Given the description of an element on the screen output the (x, y) to click on. 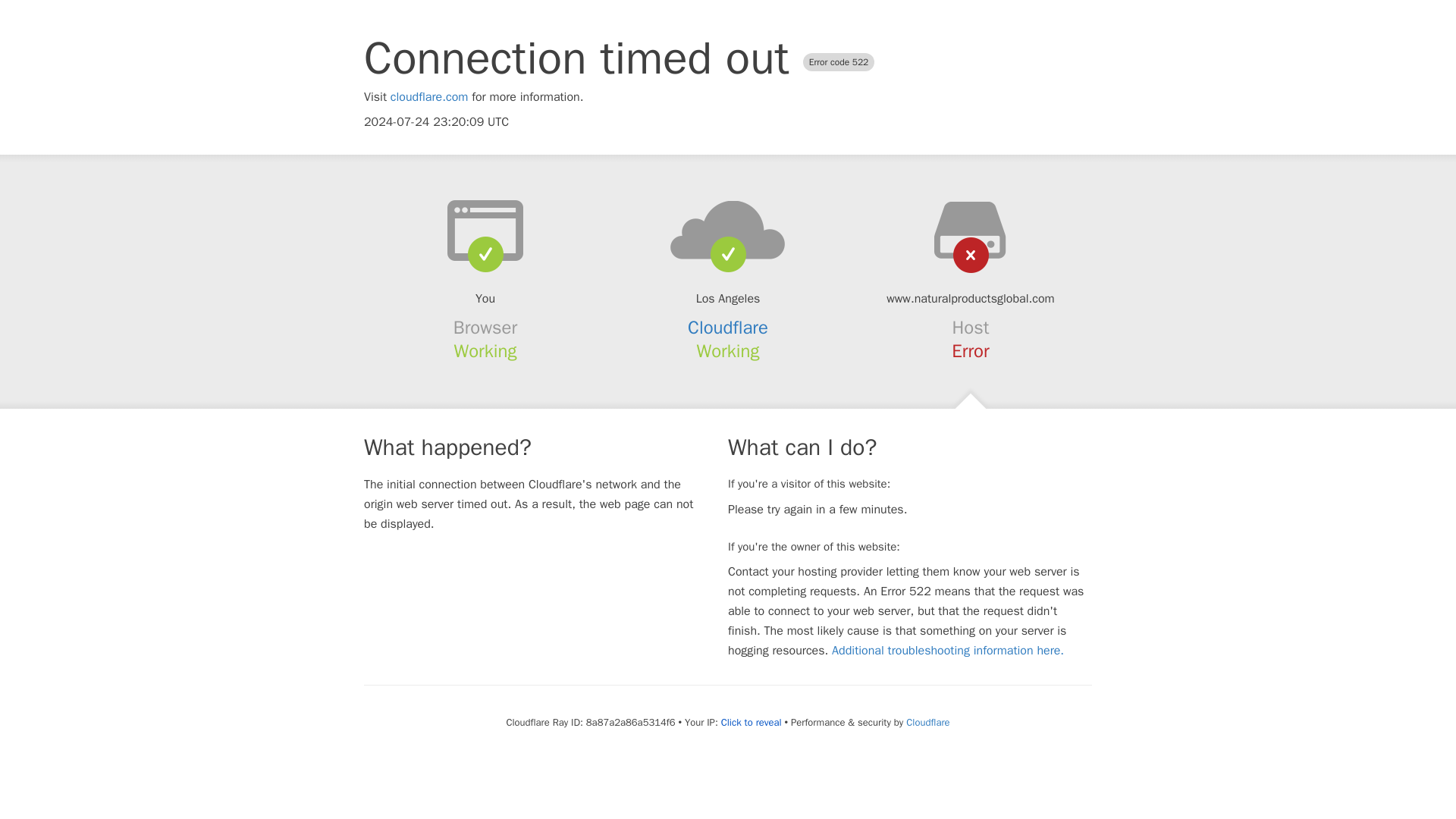
Cloudflare (927, 721)
Click to reveal (750, 722)
Cloudflare (727, 327)
cloudflare.com (429, 96)
Additional troubleshooting information here. (947, 650)
